Given the description of an element on the screen output the (x, y) to click on. 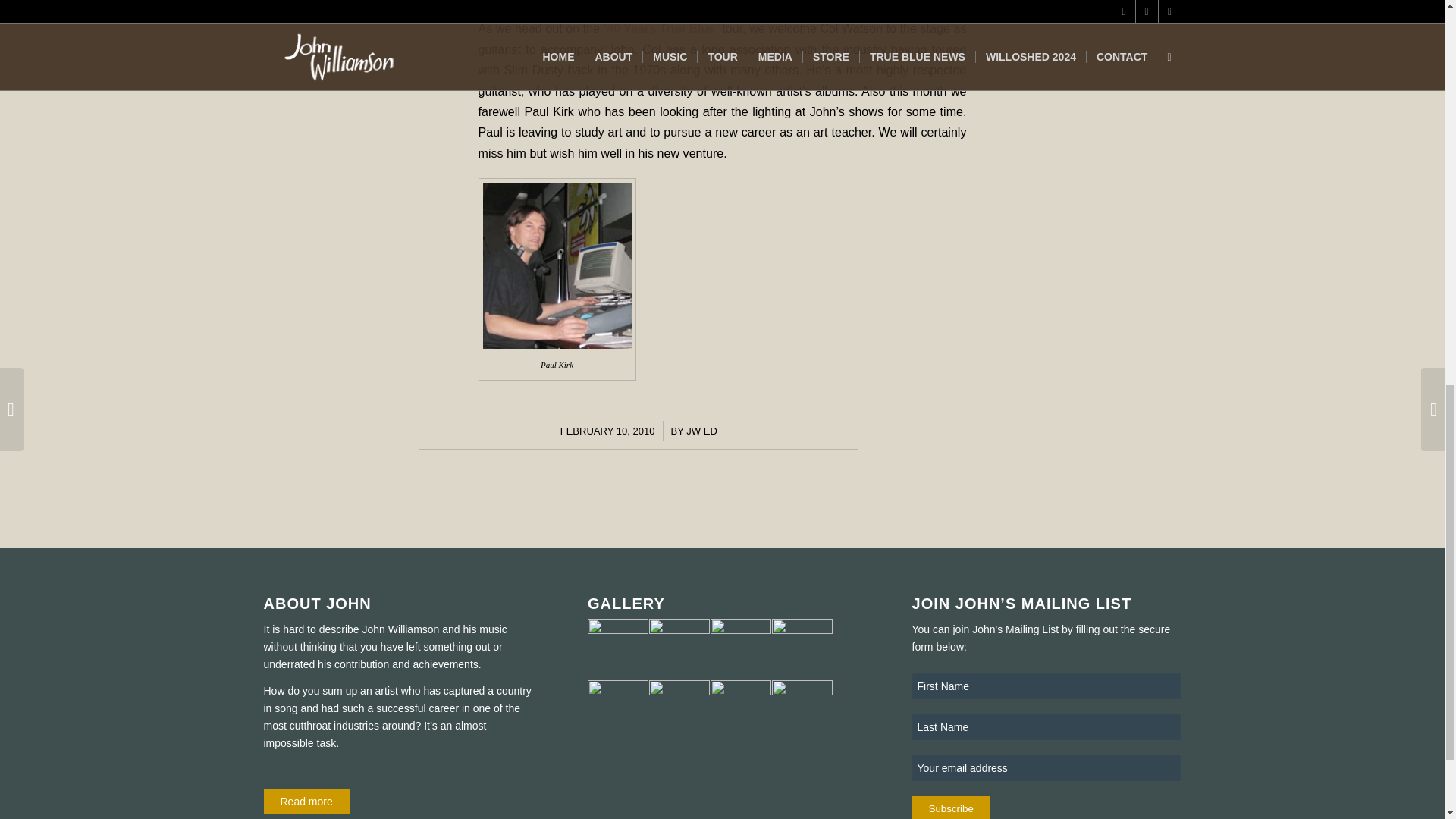
Subscribe (951, 807)
Posts by JW Ed (701, 430)
JW ED (701, 430)
